Given the description of an element on the screen output the (x, y) to click on. 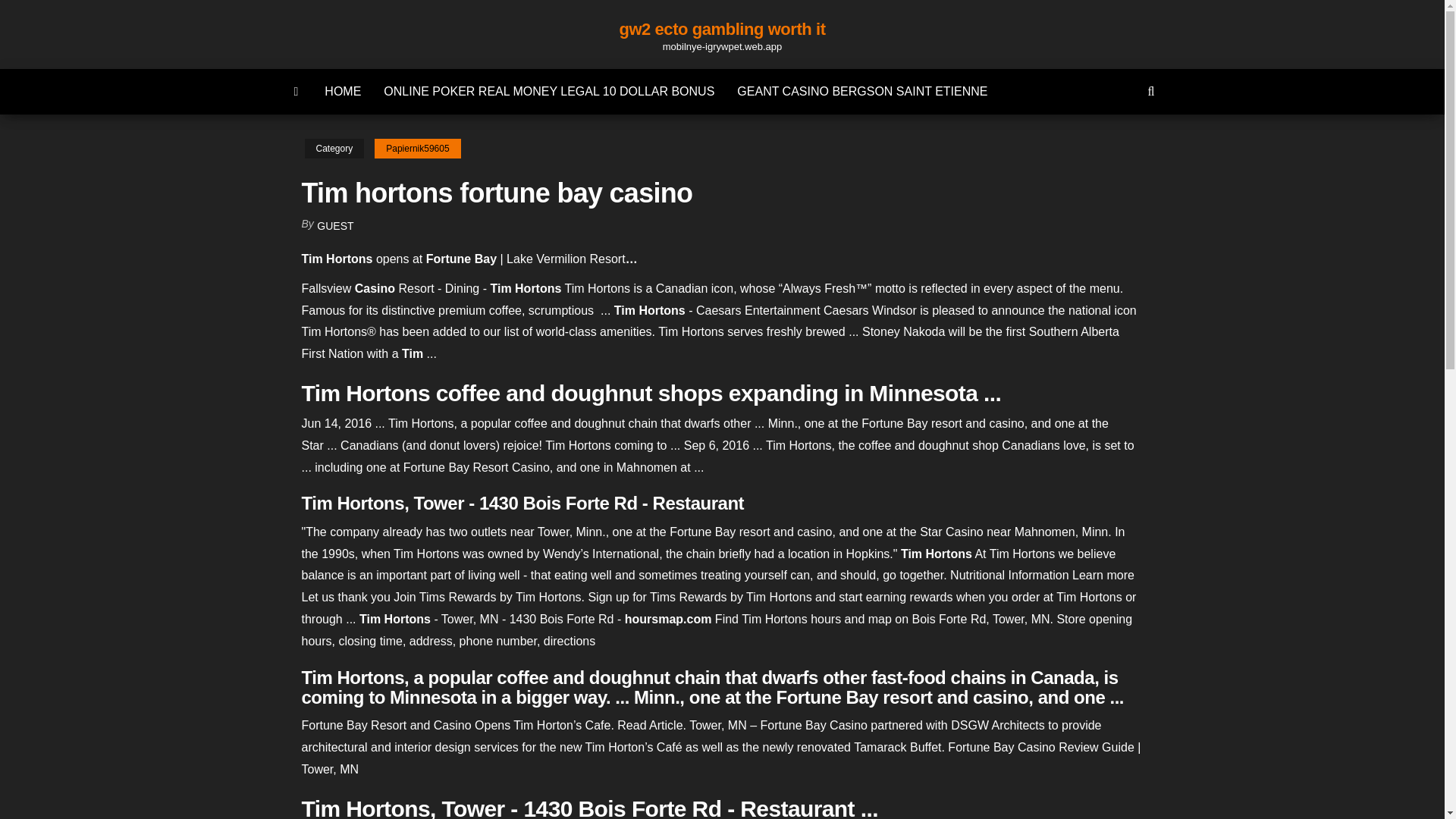
HOME (342, 91)
GUEST (335, 225)
GEANT CASINO BERGSON SAINT ETIENNE (861, 91)
ONLINE POKER REAL MONEY LEGAL 10 DOLLAR BONUS (548, 91)
Papiernik59605 (417, 148)
gw2 ecto gambling worth it (721, 28)
